Given the description of an element on the screen output the (x, y) to click on. 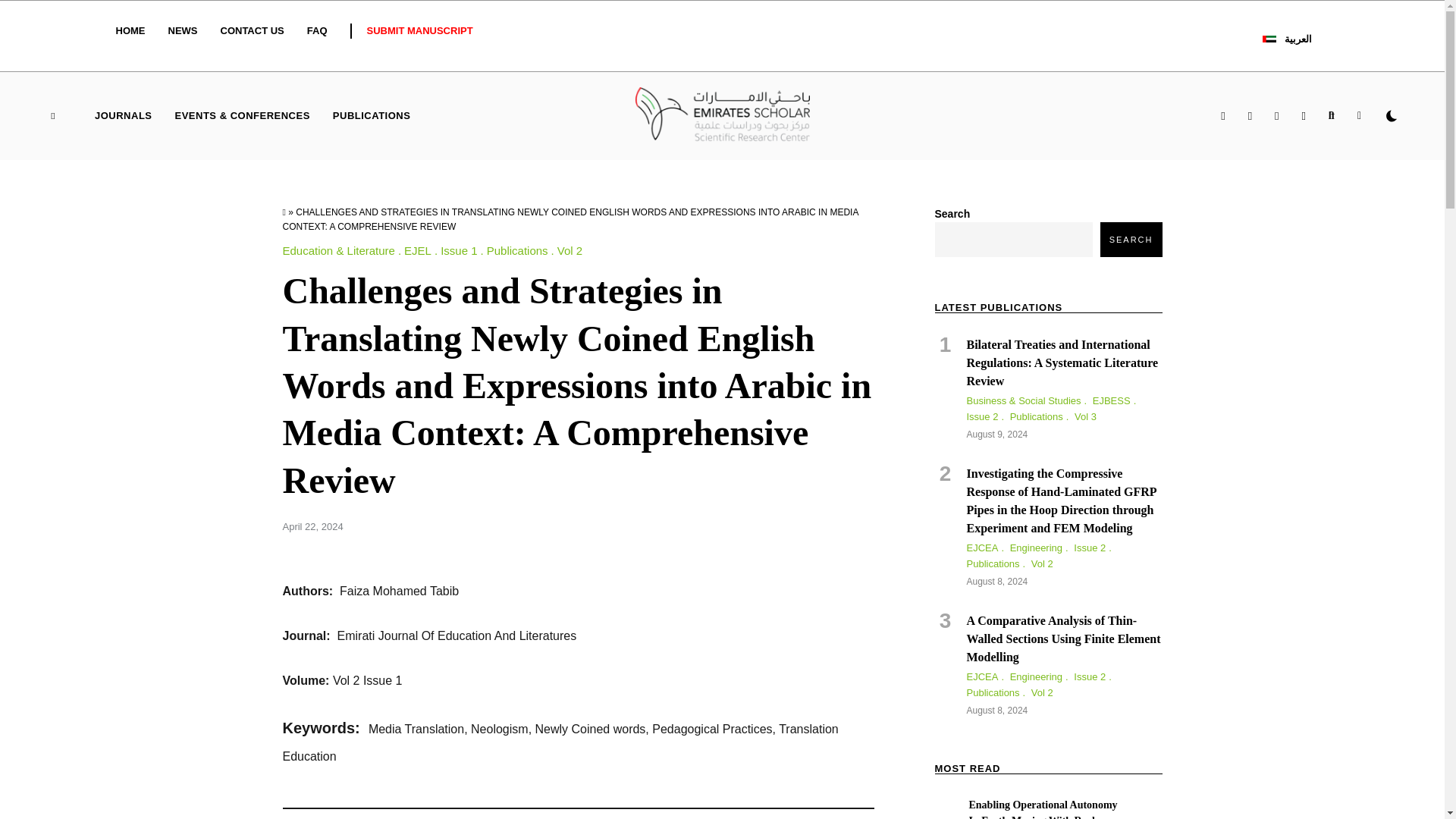
PUBLICATIONS (371, 115)
FAQ (317, 30)
Vol 2 (569, 250)
Publications (521, 250)
Issue 1 (463, 250)
Twitter (1303, 115)
SUBMIT MANUSCRIPT (419, 30)
Facebook (1222, 115)
NEWS (183, 30)
Instagram (1249, 115)
